Given the description of an element on the screen output the (x, y) to click on. 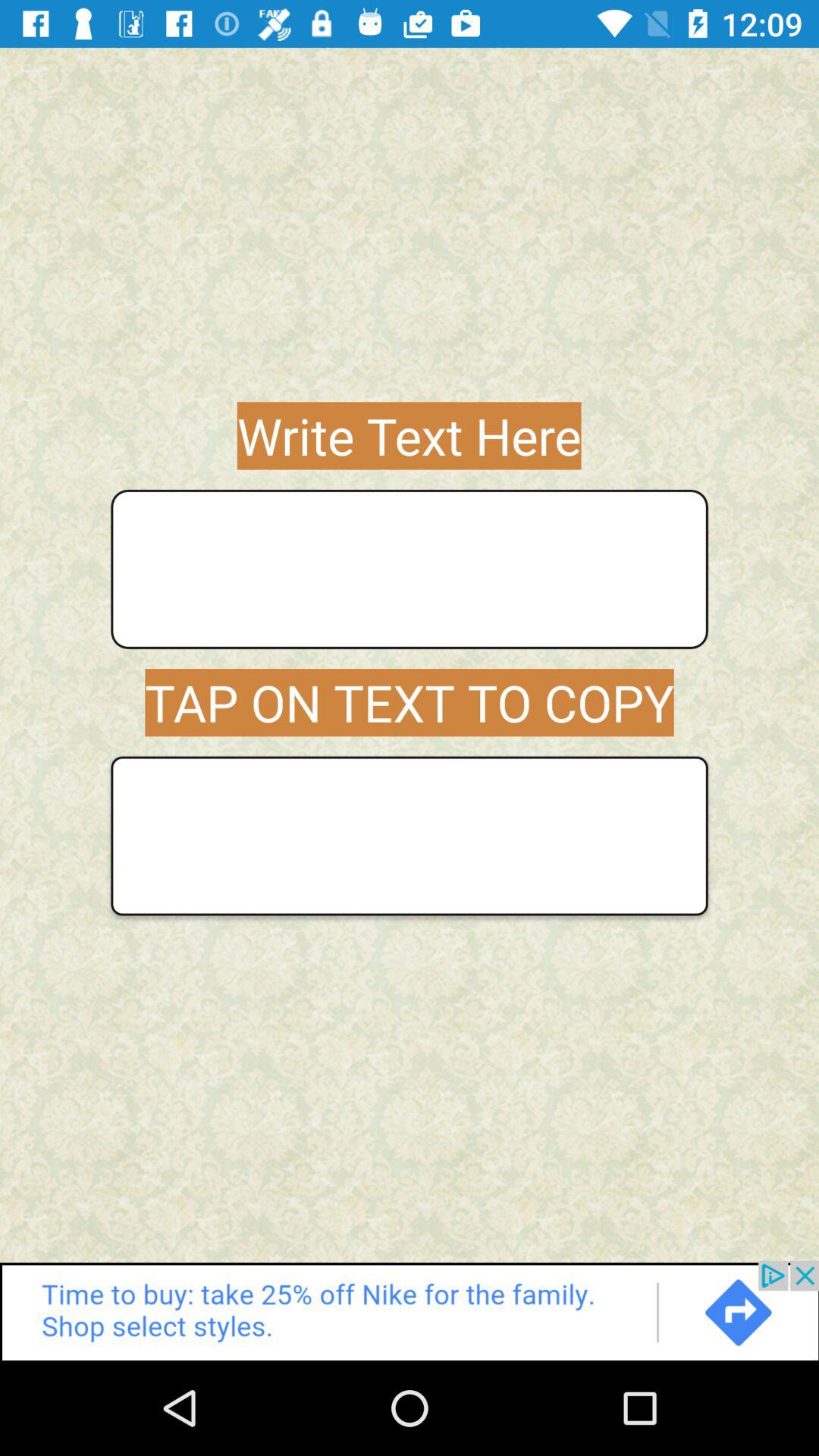
text box (409, 568)
